Given the description of an element on the screen output the (x, y) to click on. 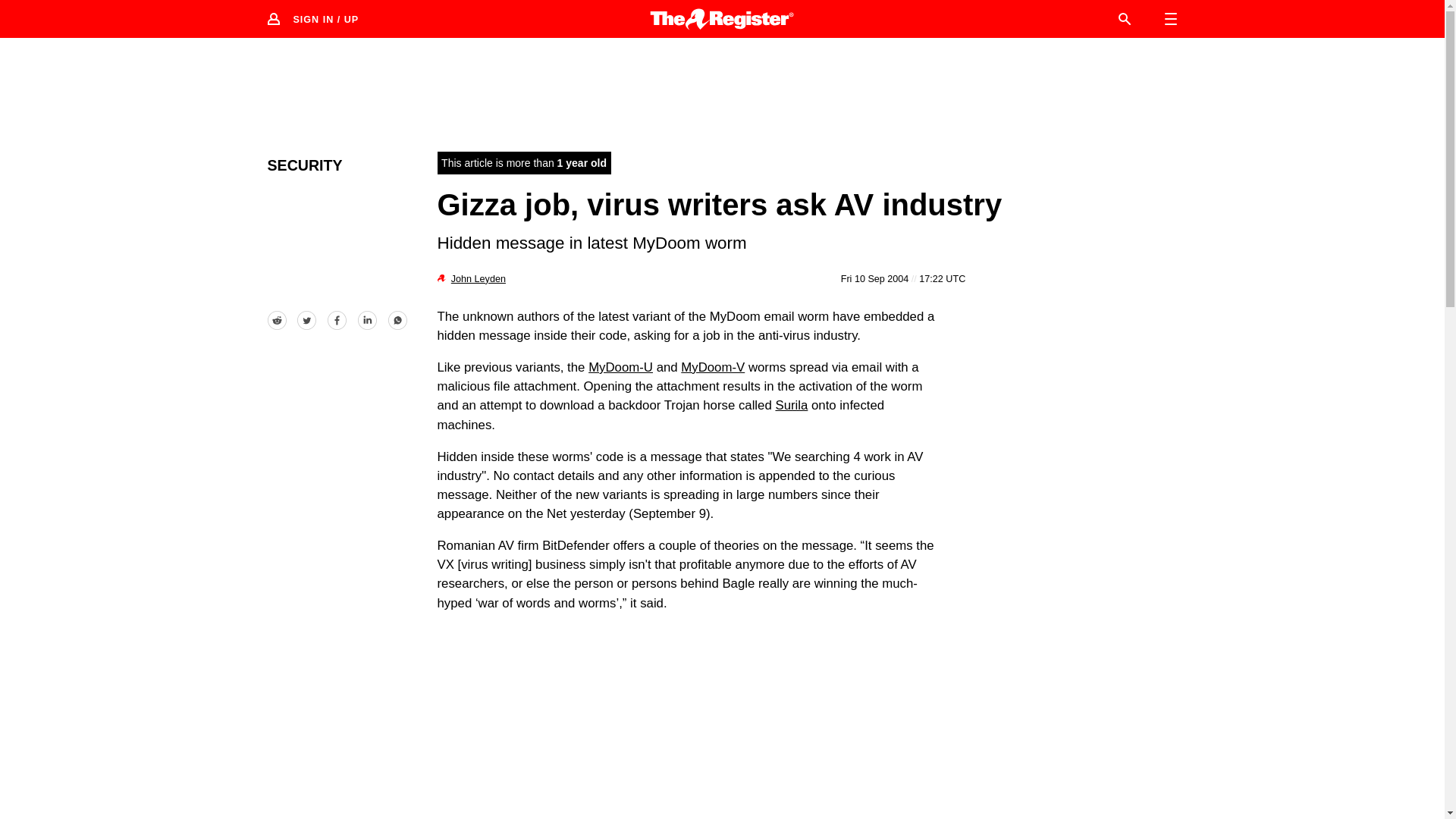
Read more by this author (478, 278)
